Given the description of an element on the screen output the (x, y) to click on. 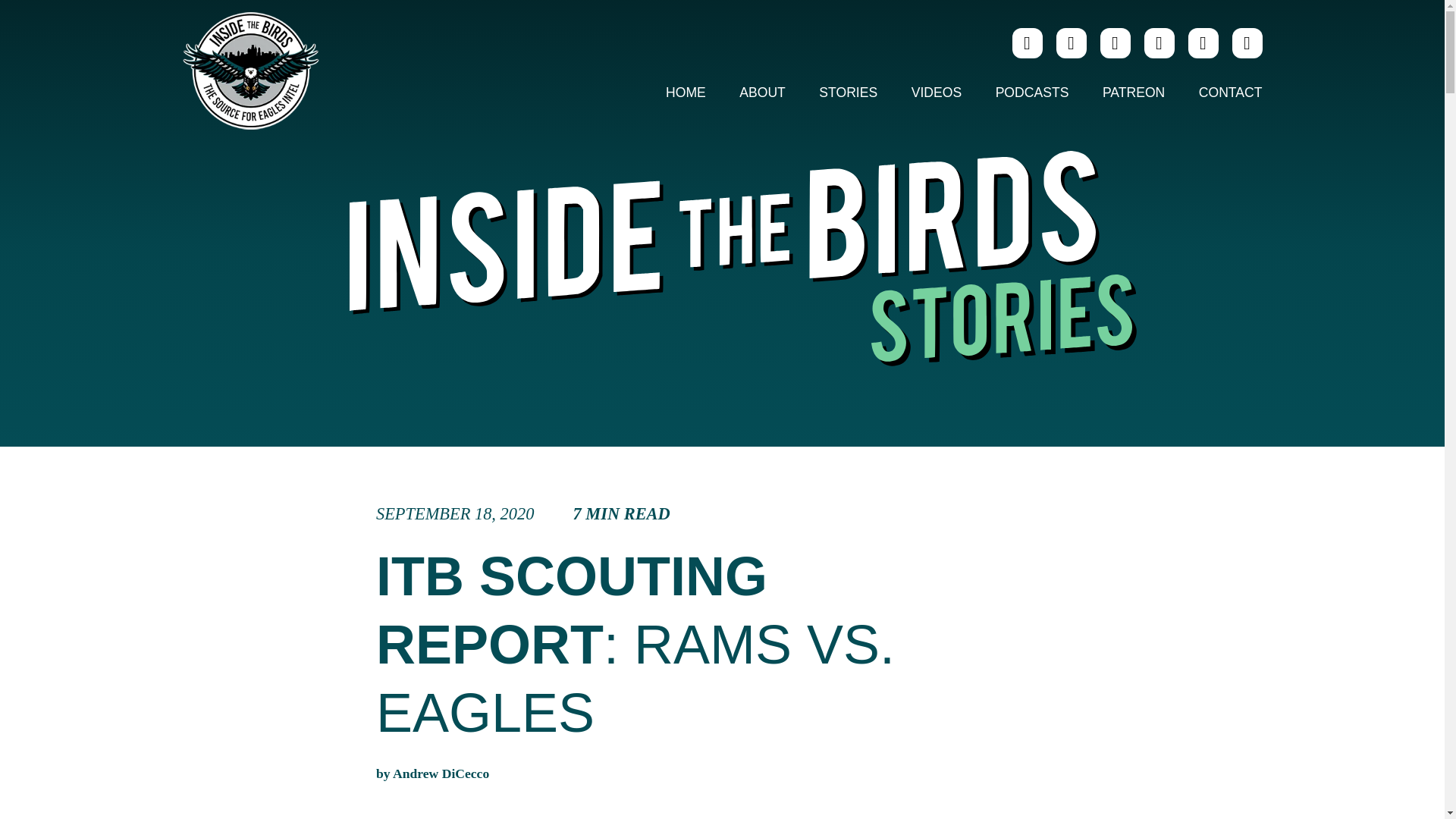
Youtube (1157, 42)
STORIES (847, 92)
Andrew DiCecco (441, 773)
PATREON (1133, 92)
Posts by Andrew DiCecco (441, 773)
CONTACT (1222, 92)
ABOUT (761, 92)
PODCASTS (1031, 92)
VIDEOS (936, 92)
HOME (685, 92)
